Given the description of an element on the screen output the (x, y) to click on. 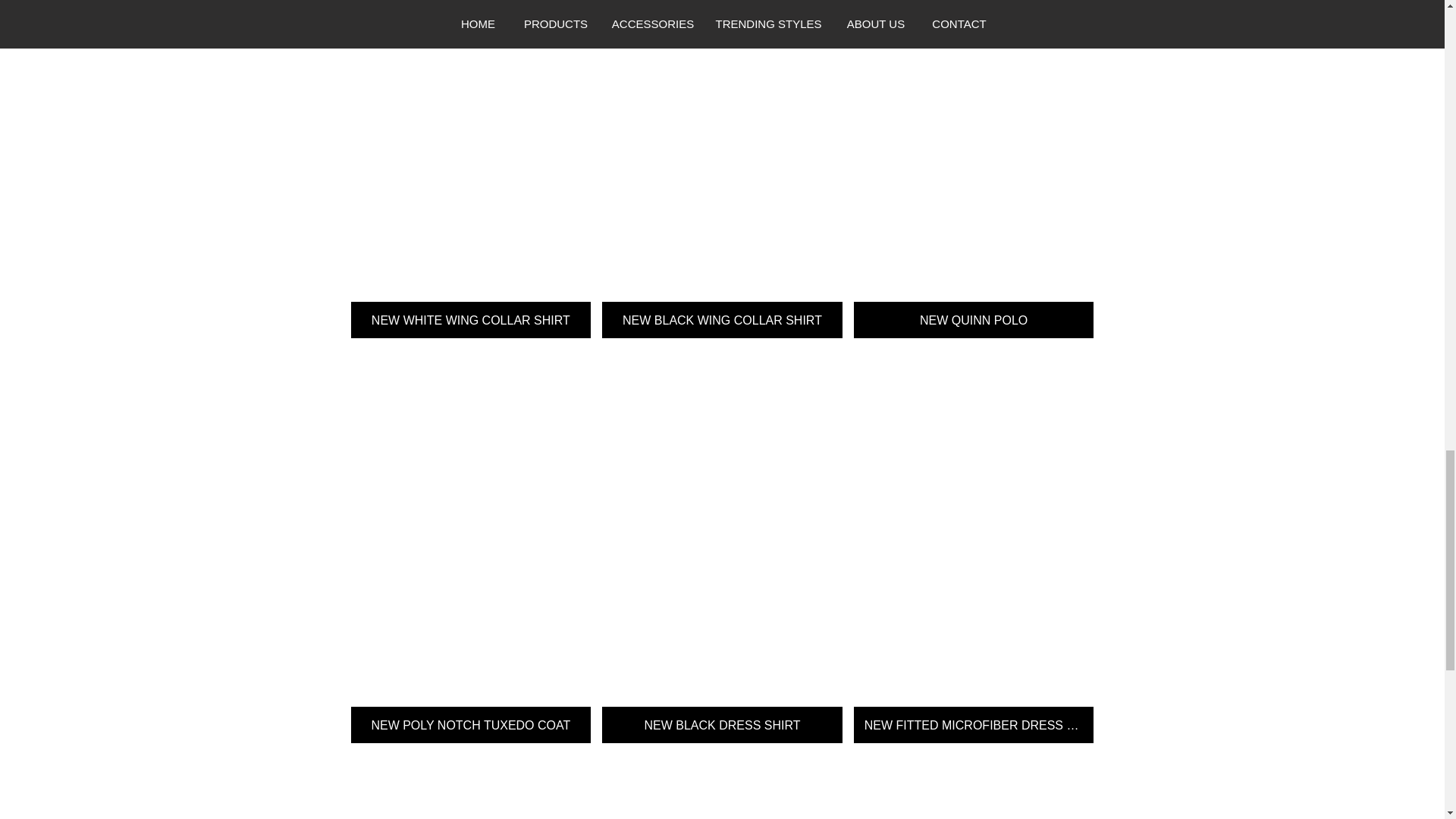
NEW POLY PLEATED TUXEDO PANTS (722, 786)
NEW POLY NOTCH TUXEDO COAT (470, 545)
NEW BLACK WING COLLAR SHIRT (722, 169)
NEW FITTED MICROFIBER DRESS SHIRT IN WHITE (973, 545)
NEW POLY FLAT FRONT TUXEDO PANTS (973, 786)
NEW BLACK DRESS SHIRT (722, 545)
NEW POLY PEAK TUXEDO COAT (470, 786)
NEW WHITE WING COLLAR SHIRT (470, 169)
NEW QUINN POLO (973, 169)
